Given the description of an element on the screen output the (x, y) to click on. 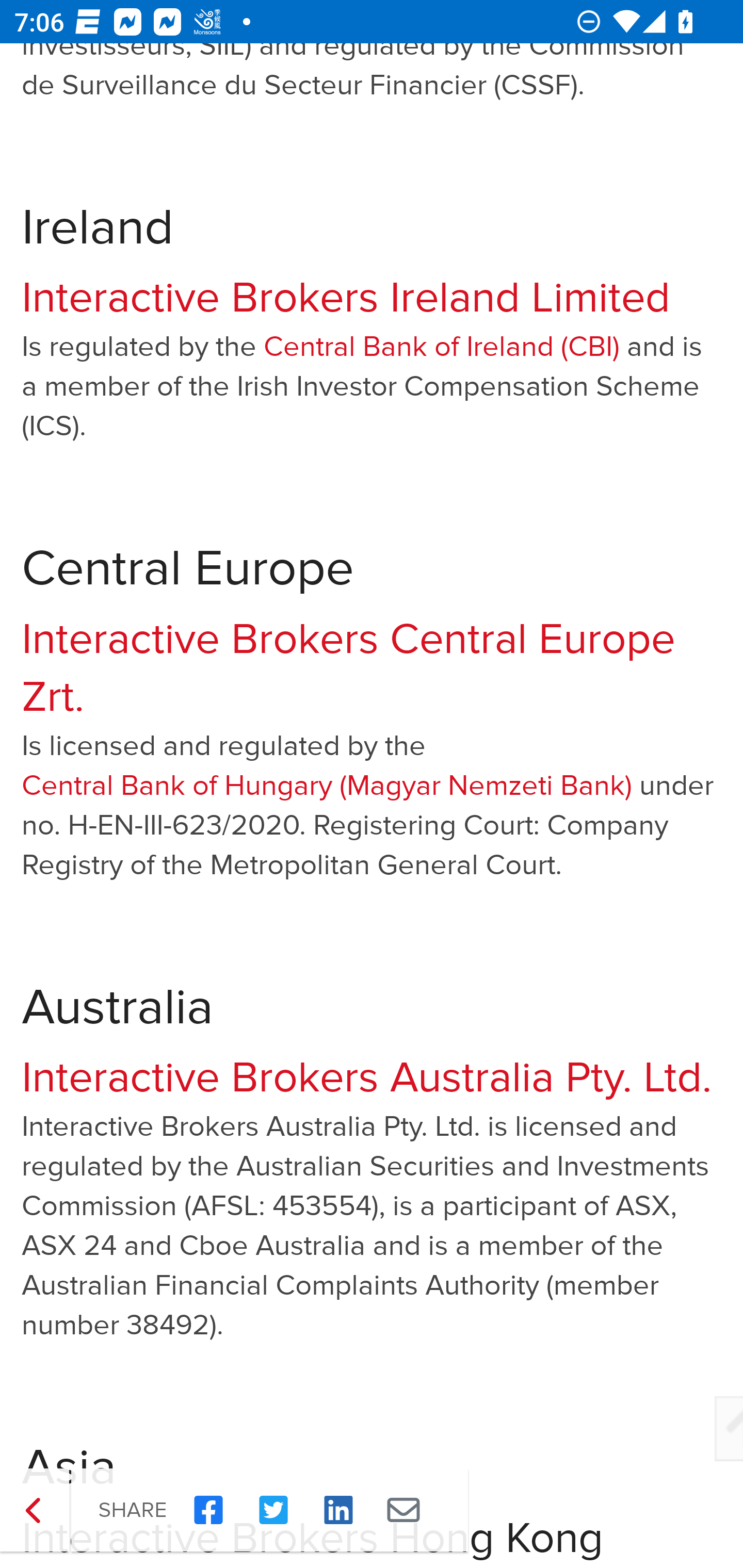
Interactive Brokers Ireland Limited (346, 299)
Central Bank of Ireland (CBI) (442, 349)
Interactive Brokers Central Europe Zrt. (348, 669)
Central Bank of Hungary (Magyar Nemzeti Bank) (327, 787)
Interactive Brokers Australia Pty. Ltd. (367, 1079)
Share on Facebook  (208, 1512)
Share on Twitter  (272, 1512)
Share on Linkedin  (338, 1512)
Share by Email  (403, 1512)
